Given the description of an element on the screen output the (x, y) to click on. 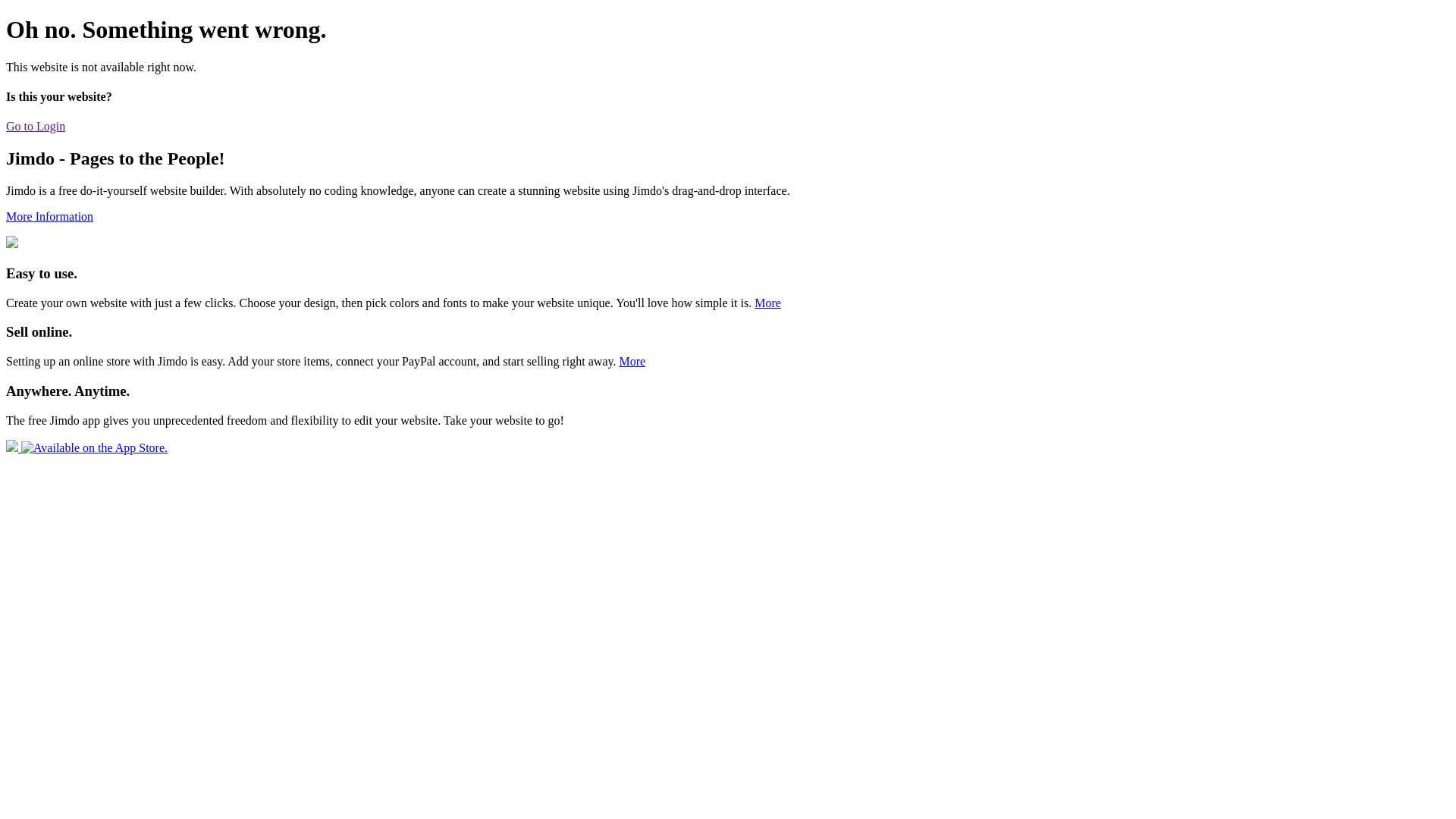
Go to Login Element type: text (35, 125)
More Element type: text (631, 360)
Available on the App Store. Element type: hover (86, 447)
More Element type: text (767, 302)
More Information Element type: text (49, 216)
